Given the description of an element on the screen output the (x, y) to click on. 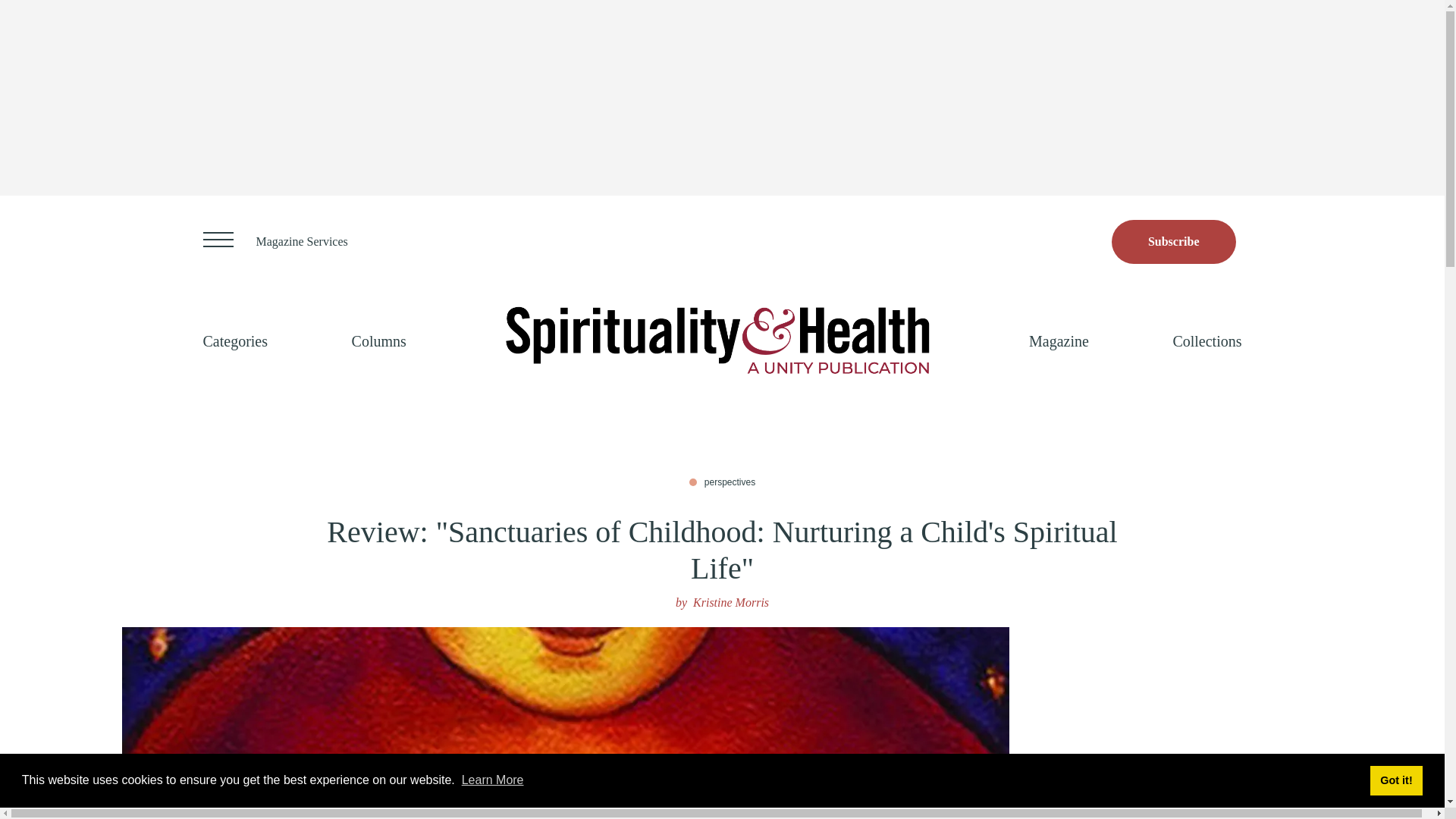
Learn More (492, 779)
Magazine (1059, 340)
Columns (379, 340)
Subscribe (1174, 241)
Collections (1206, 340)
Got it! (1396, 780)
Categories (235, 340)
Magazine Services (301, 241)
Opens to Store site (1174, 241)
